Given the description of an element on the screen output the (x, y) to click on. 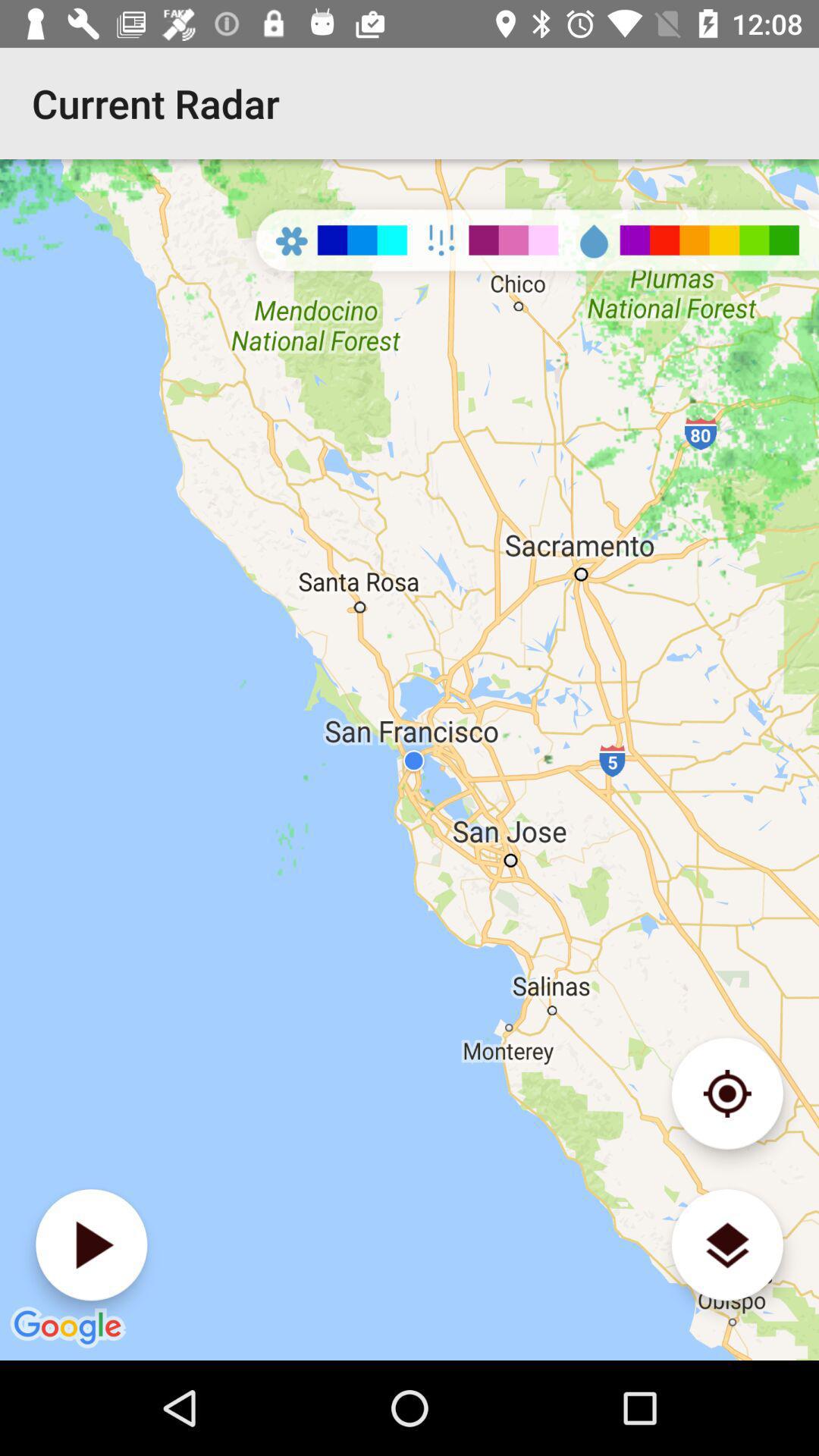
play image (91, 1244)
